Given the description of an element on the screen output the (x, y) to click on. 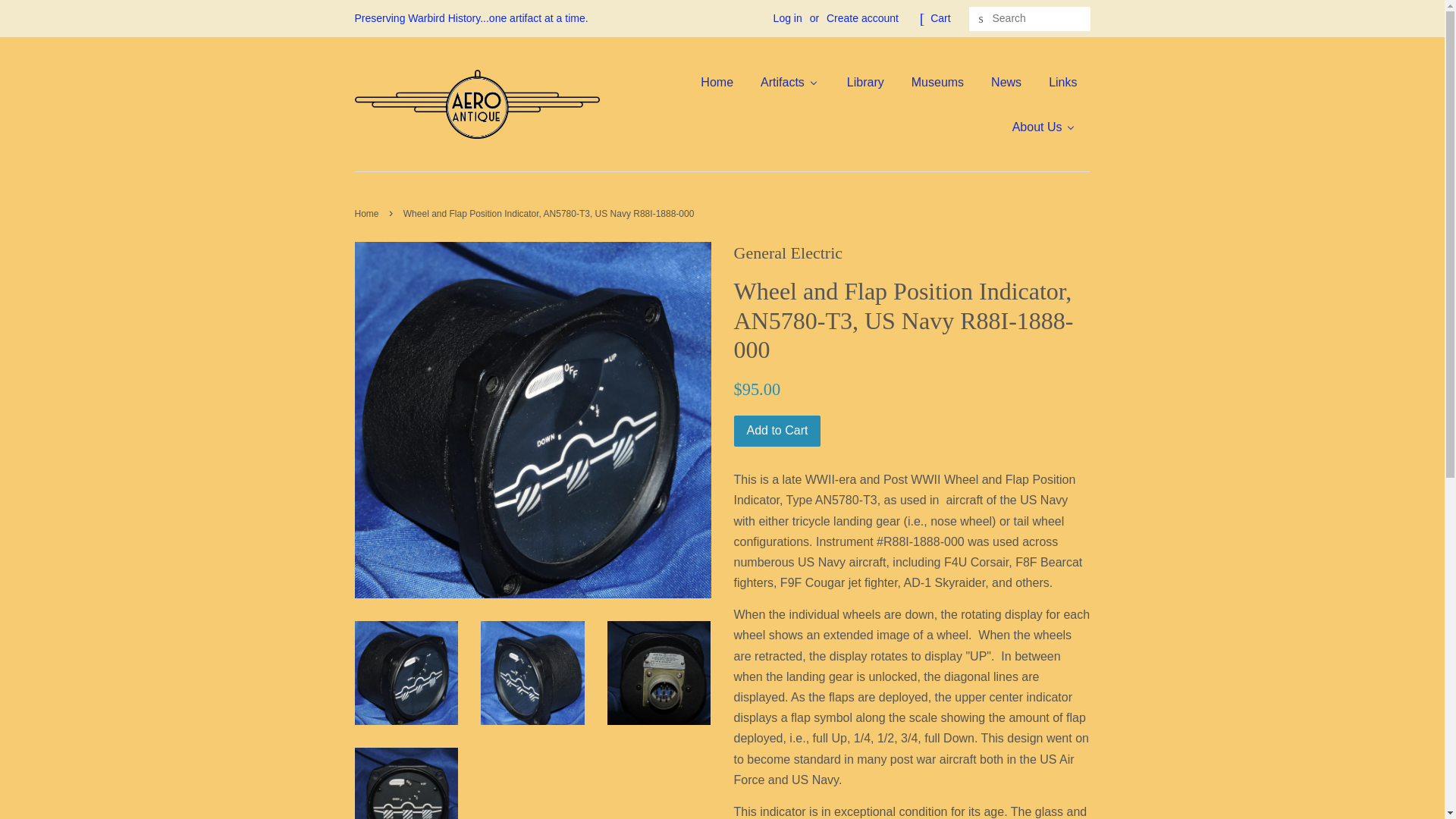
Create account (862, 18)
Back to the frontpage (368, 213)
Log in (787, 18)
Search (980, 18)
Cart (940, 18)
